Given the description of an element on the screen output the (x, y) to click on. 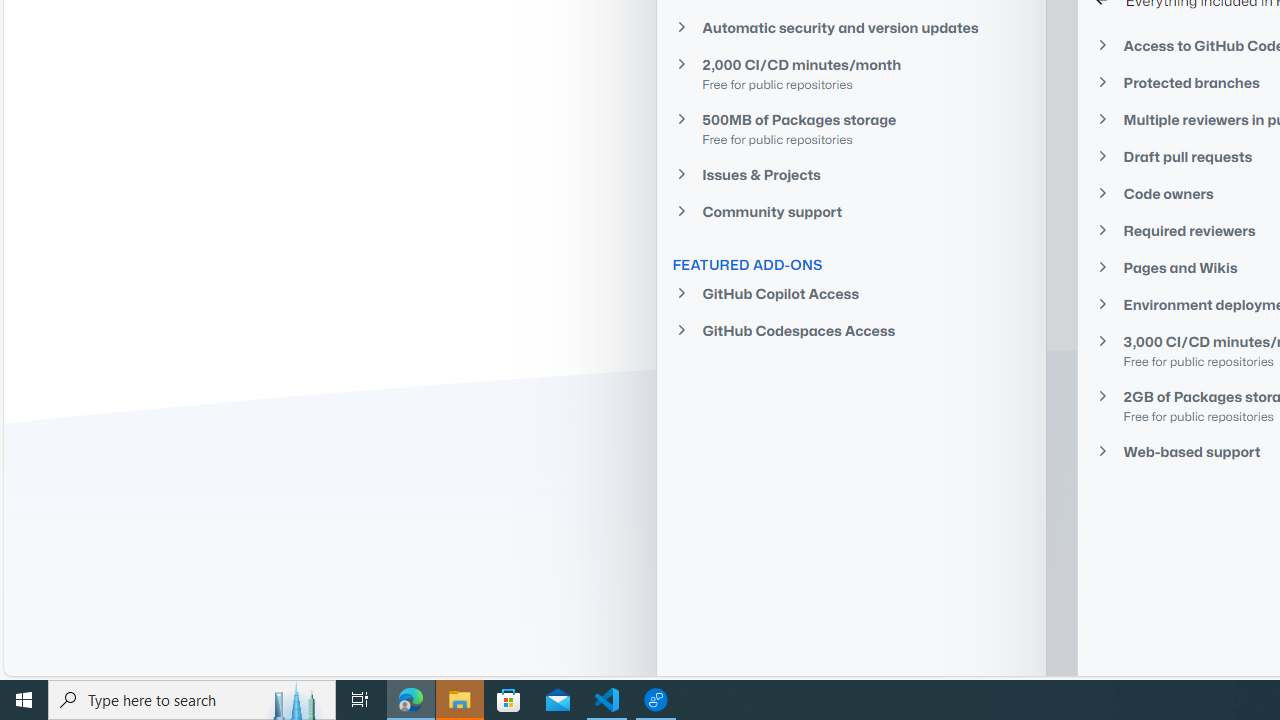
Community support (851, 211)
Community support (851, 211)
GitHub Copilot Access (851, 294)
GitHub Codespaces Access (851, 330)
Issues & Projects (851, 173)
GitHub Codespaces Access (851, 330)
500MB of Packages storage Free for public repositories (851, 128)
Automatic security and version updates (851, 27)
500MB of Packages storageFree for public repositories (851, 128)
2,000 CI/CD minutes/month Free for public repositories (851, 74)
GitHub Copilot Access (851, 293)
2,000 CI/CD minutes/monthFree for public repositories (851, 73)
Issues & Projects (851, 174)
Automatic security and version updates (851, 26)
